Given the description of an element on the screen output the (x, y) to click on. 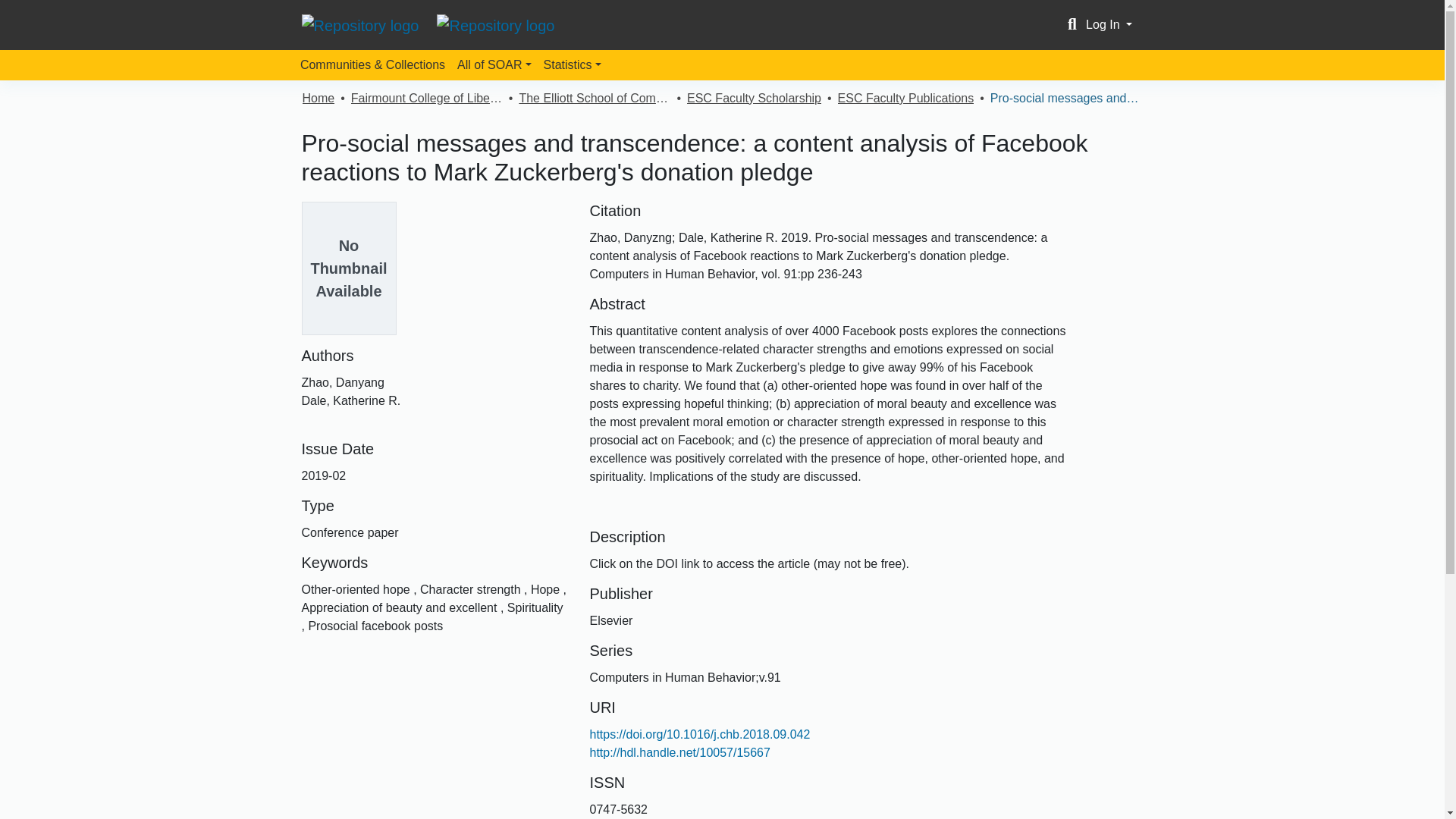
Home (317, 98)
ESC Faculty Publications (906, 98)
Log In (1108, 24)
Search (1072, 24)
Statistics (572, 64)
ESC Faculty Scholarship (754, 98)
All of SOAR (494, 64)
The Elliott School of Communication (593, 98)
Fairmount College of Liberal Arts and Sciences (426, 98)
